Given the description of an element on the screen output the (x, y) to click on. 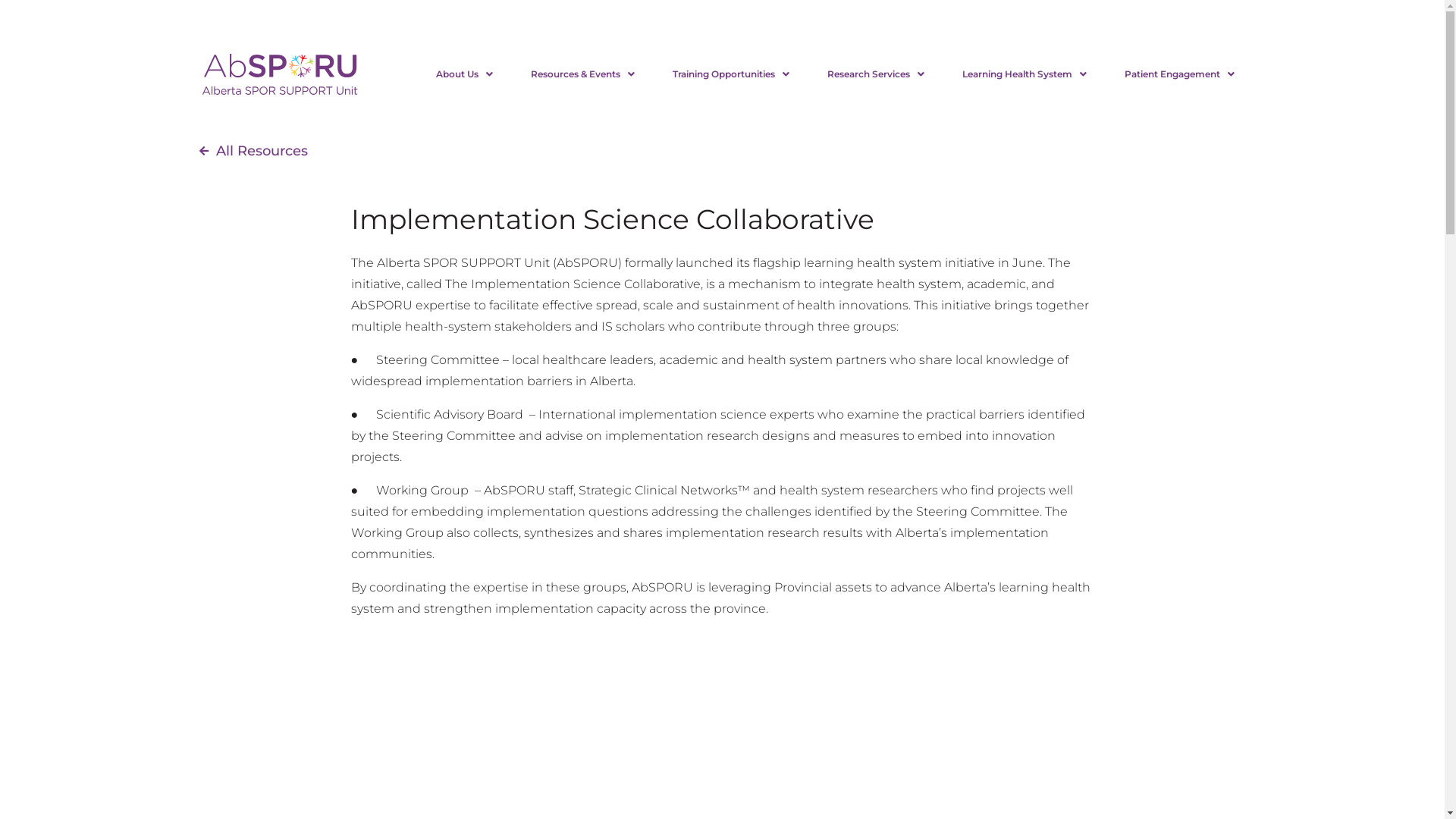
About Us Element type: text (464, 73)
Training Opportunities Element type: text (730, 73)
Patient Engagement Element type: text (1179, 73)
All Resources Element type: text (721, 150)
Resources & Events Element type: text (581, 73)
Learning Health System Element type: text (1024, 73)
Research Services Element type: text (875, 73)
